Given the description of an element on the screen output the (x, y) to click on. 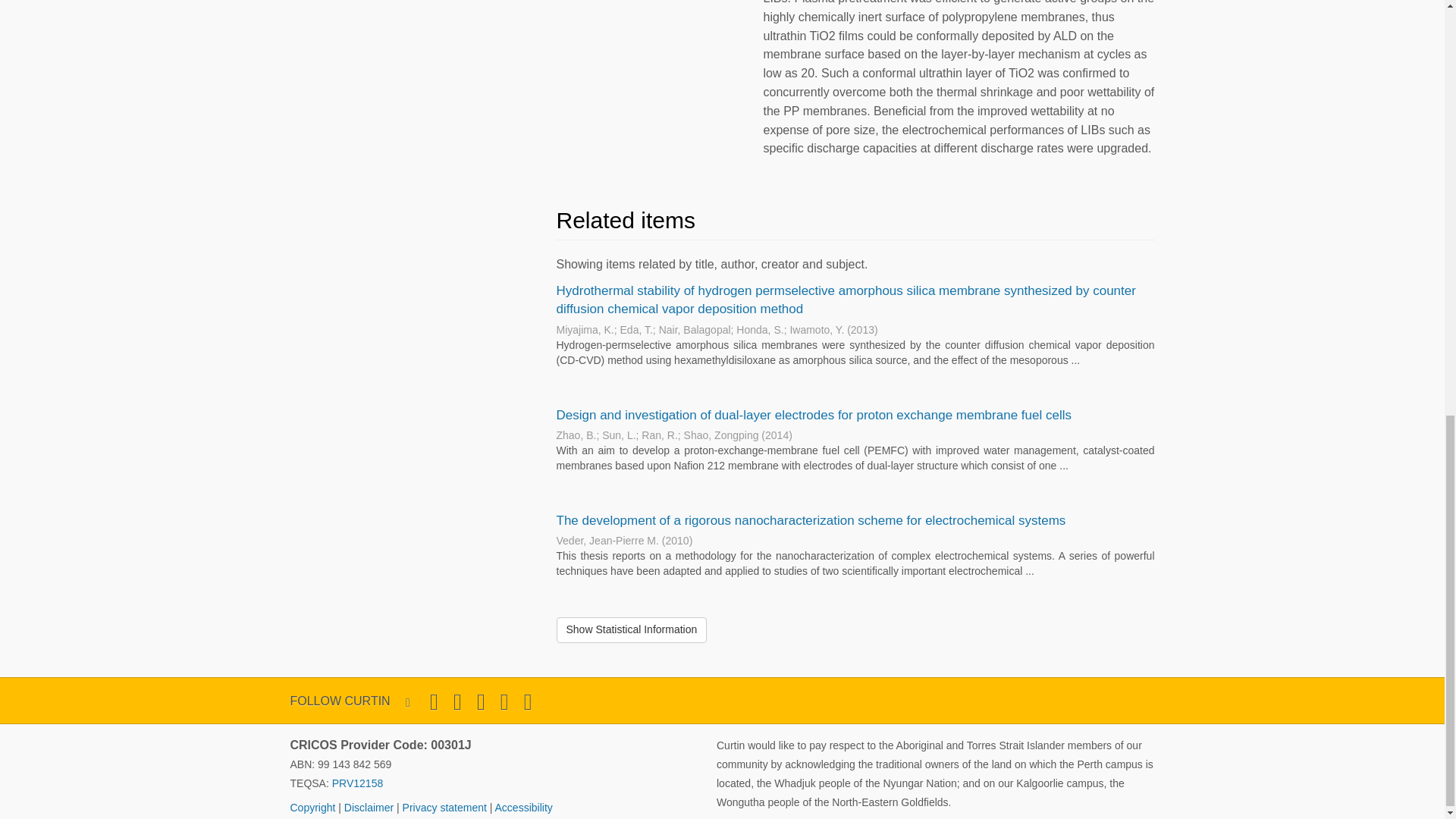
Show Statistical Information (631, 629)
